Given the description of an element on the screen output the (x, y) to click on. 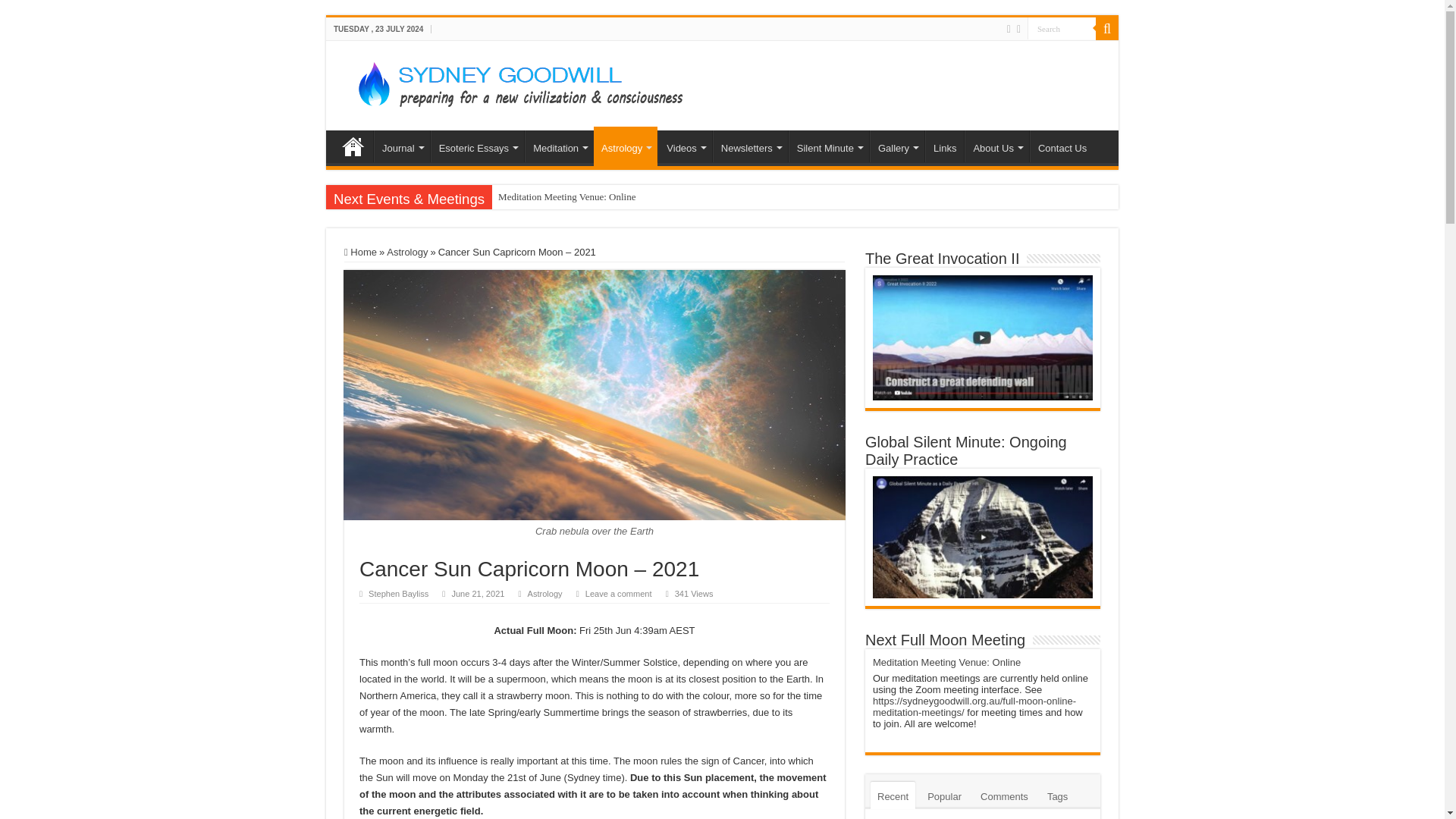
Search (1061, 28)
Search (1107, 28)
Sydney Goodwill (512, 82)
Search (1061, 28)
Search (1061, 28)
